Given the description of an element on the screen output the (x, y) to click on. 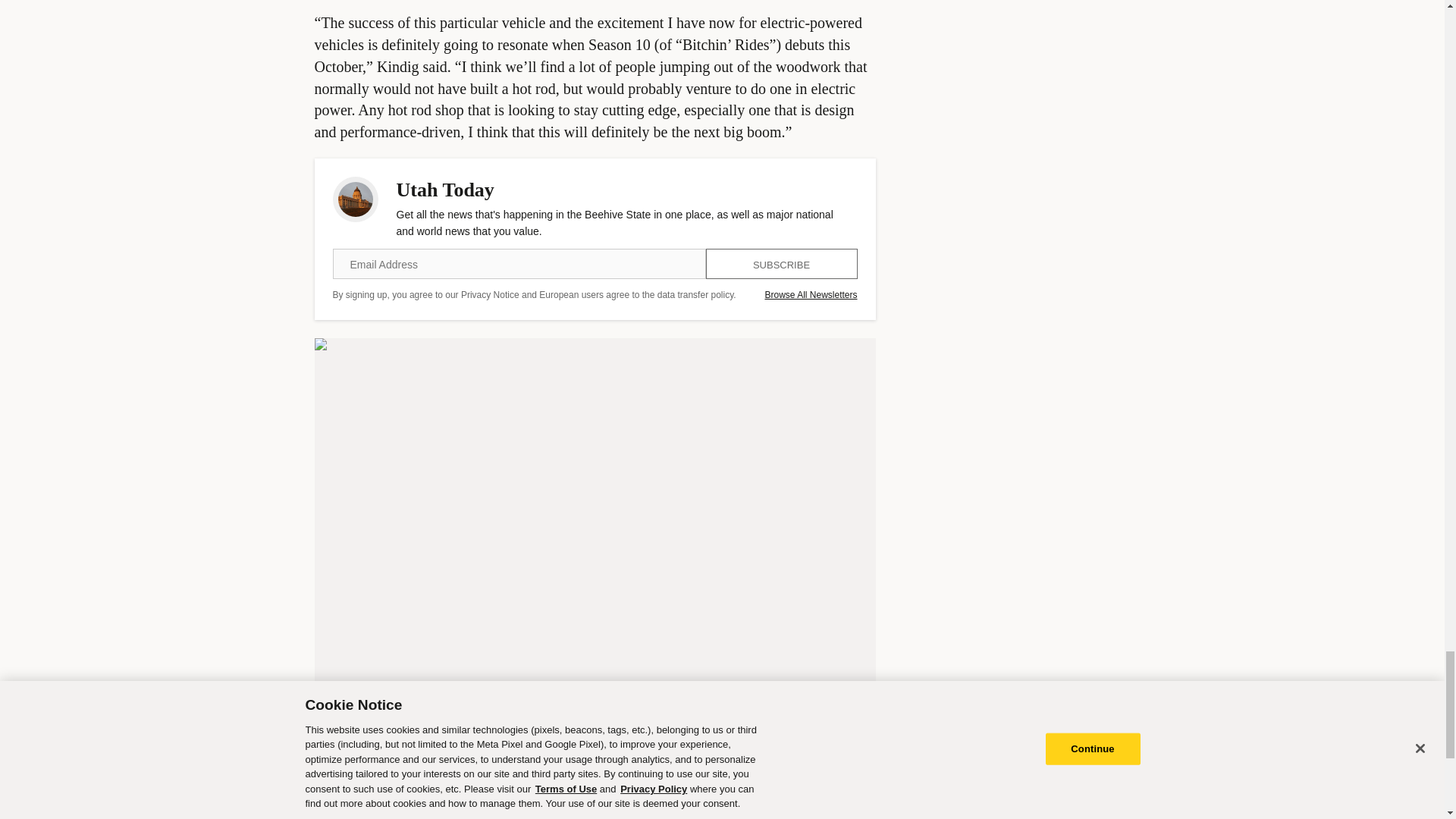
SUBSCRIBE (780, 263)
Browse All Newsletters (810, 294)
PURCHASE IMAGE (361, 759)
